Given the description of an element on the screen output the (x, y) to click on. 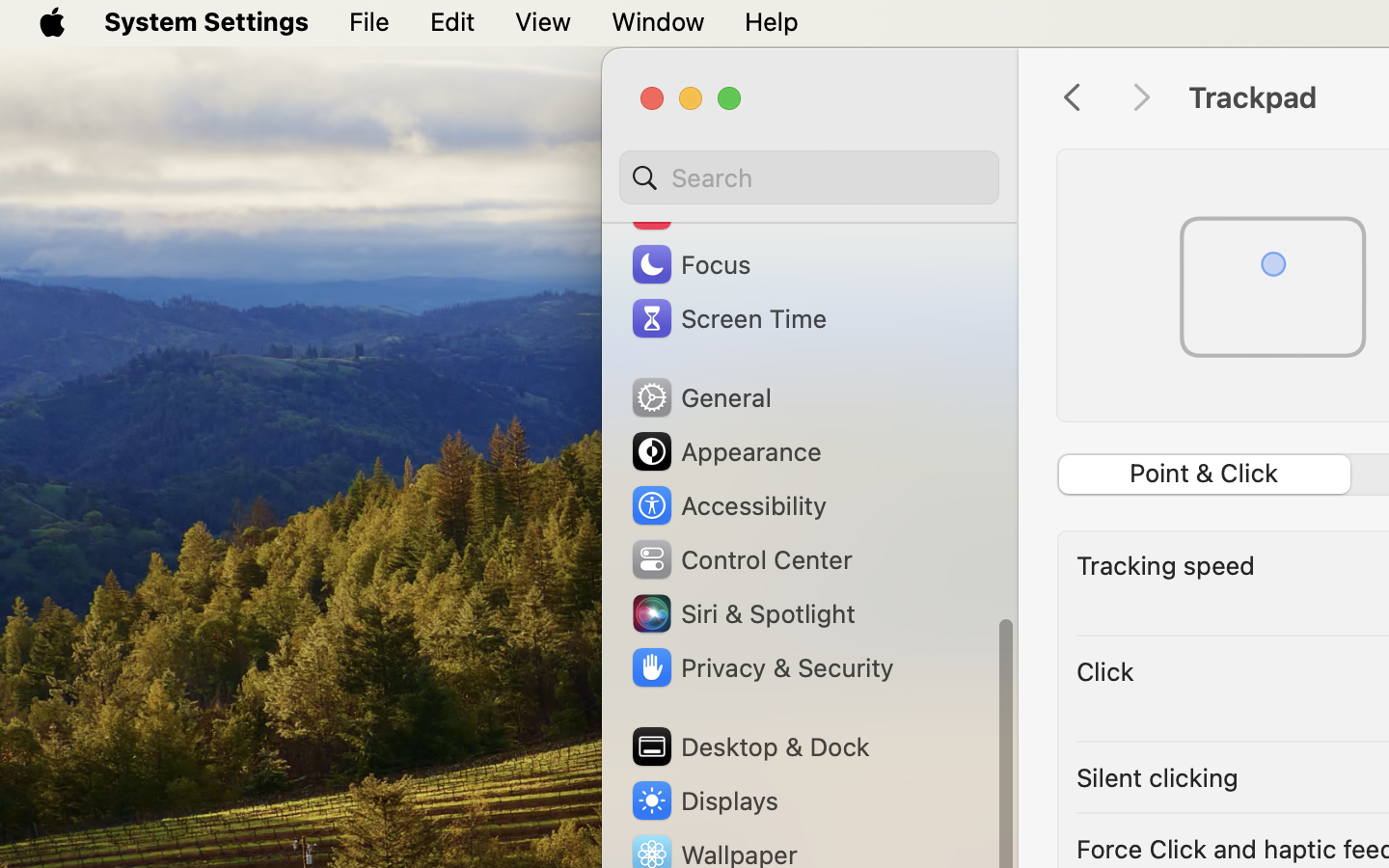
Click Element type: AXStaticText (1105, 670)
Displays Element type: AXStaticText (703, 800)
Siri & Spotlight Element type: AXStaticText (741, 613)
Focus Element type: AXStaticText (689, 264)
